Given the description of an element on the screen output the (x, y) to click on. 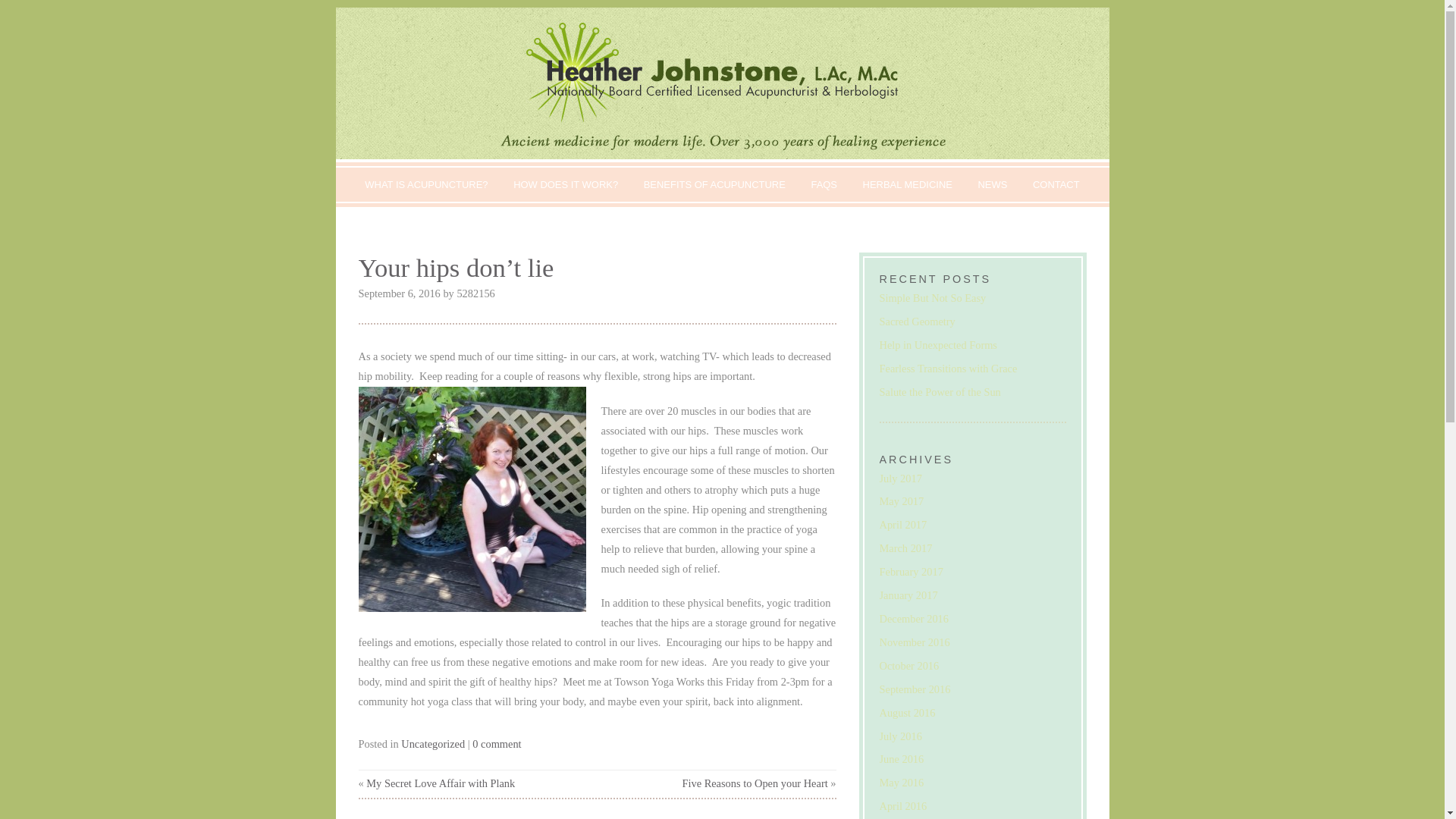
Fearless Transitions with Grace (948, 368)
Help in Unexpected Forms (938, 345)
CONTACT (1056, 184)
HERBAL MEDICINE (907, 184)
Sacred Geometry (917, 321)
April 2017 (903, 524)
FAQS (823, 184)
July 2016 (900, 735)
February 2017 (911, 571)
July 2017 (900, 478)
